Given the description of an element on the screen output the (x, y) to click on. 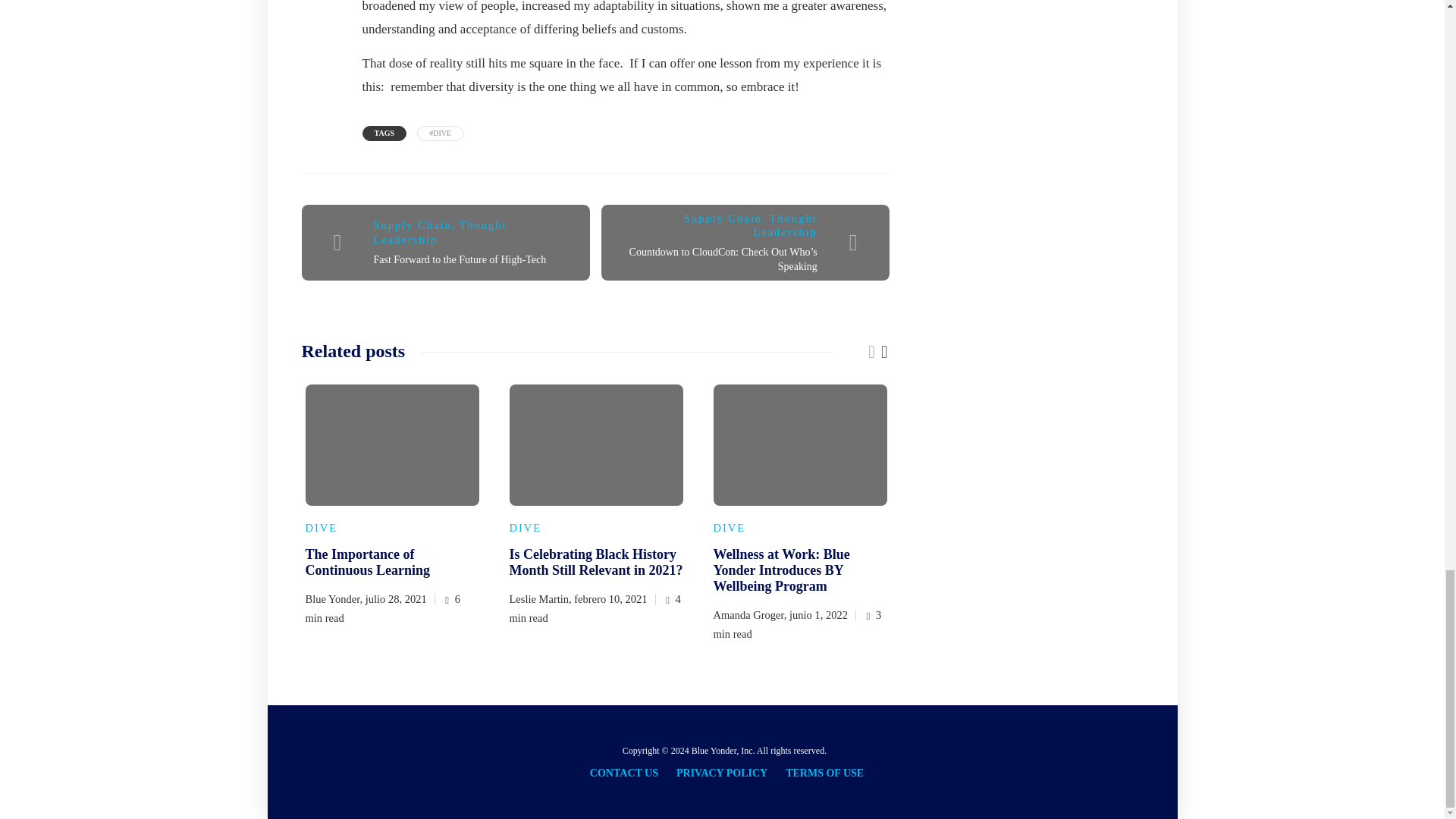
Thought Leadership (440, 232)
Thought Leadership (784, 225)
Supply Chain (722, 218)
TAGS (384, 133)
Supply Chain (412, 224)
Fast Forward to the Future of High-Tech (460, 259)
